Given the description of an element on the screen output the (x, y) to click on. 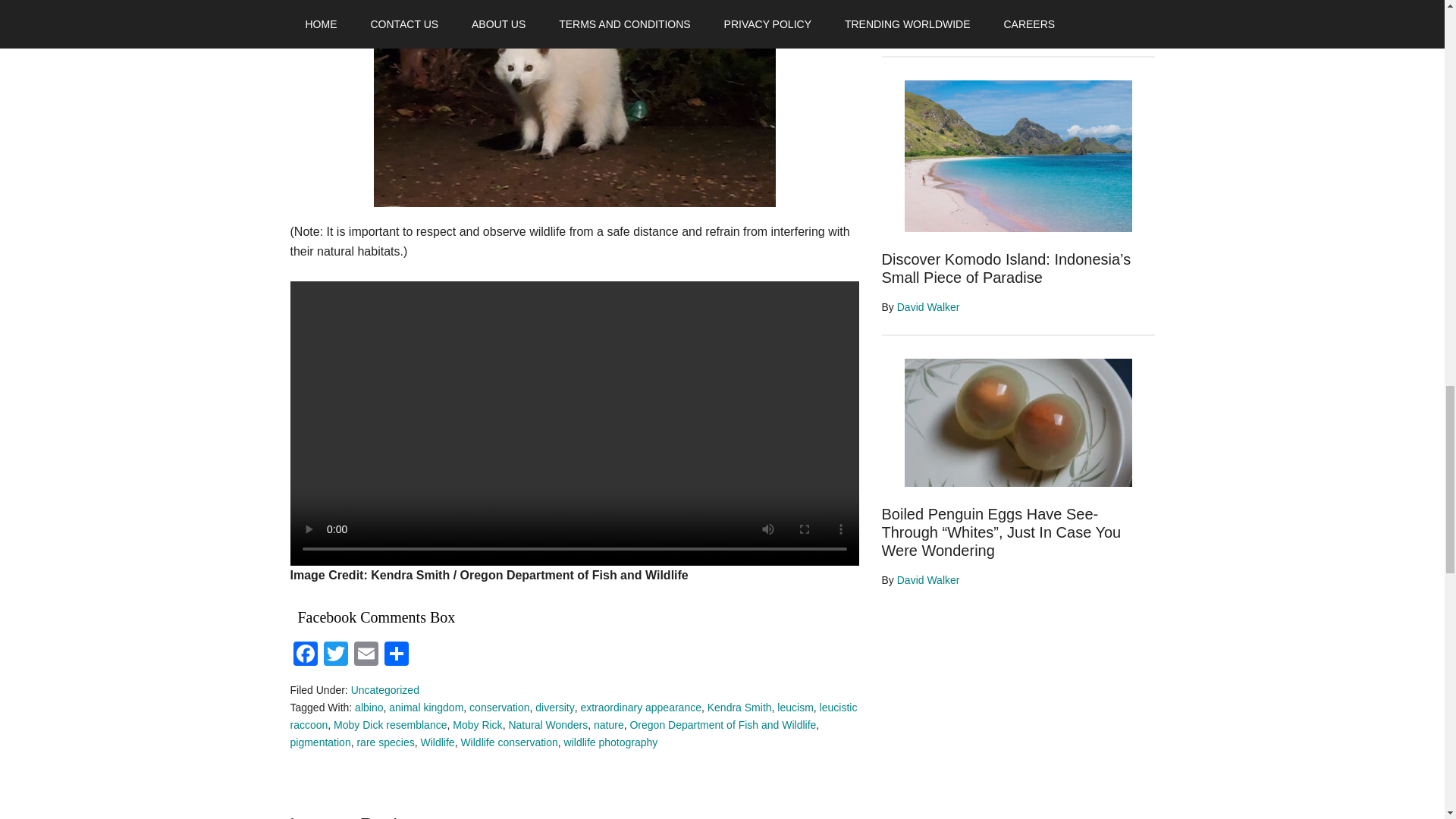
albino (368, 707)
Email (365, 655)
Wildlife conservation (508, 742)
Email (365, 655)
Natural Wonders (548, 725)
Facebook (304, 655)
Uncategorized (384, 689)
leucism (794, 707)
Moby Dick resemblance (389, 725)
Facebook (304, 655)
